Given the description of an element on the screen output the (x, y) to click on. 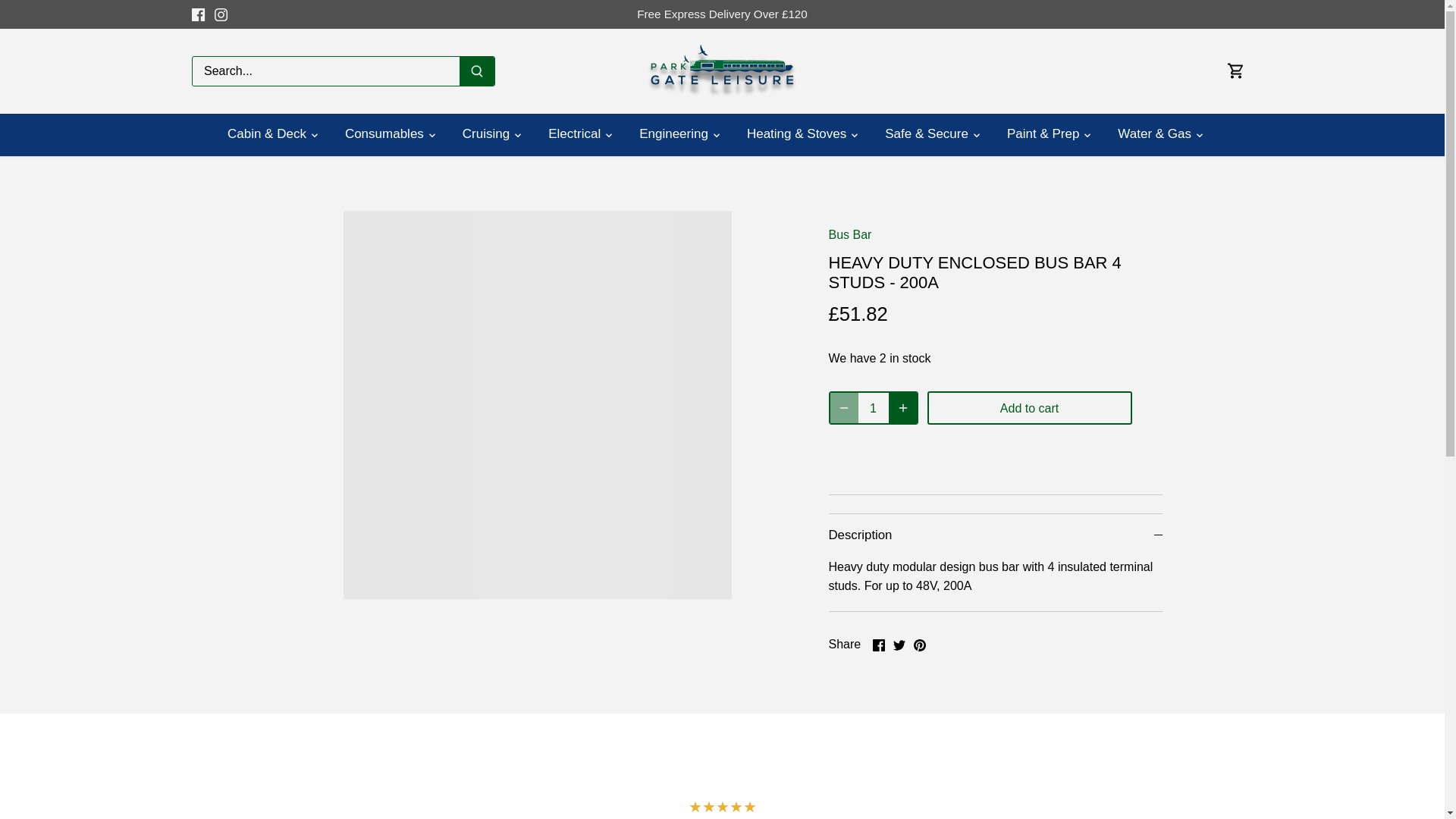
Facebook (878, 645)
Instagram (220, 14)
Pinterest (918, 645)
Twitter (899, 645)
1 (873, 408)
Instagram (220, 13)
Facebook (196, 14)
Cruising (485, 134)
Go to cart (1235, 70)
Facebook (196, 13)
Consumables (383, 134)
